Given the description of an element on the screen output the (x, y) to click on. 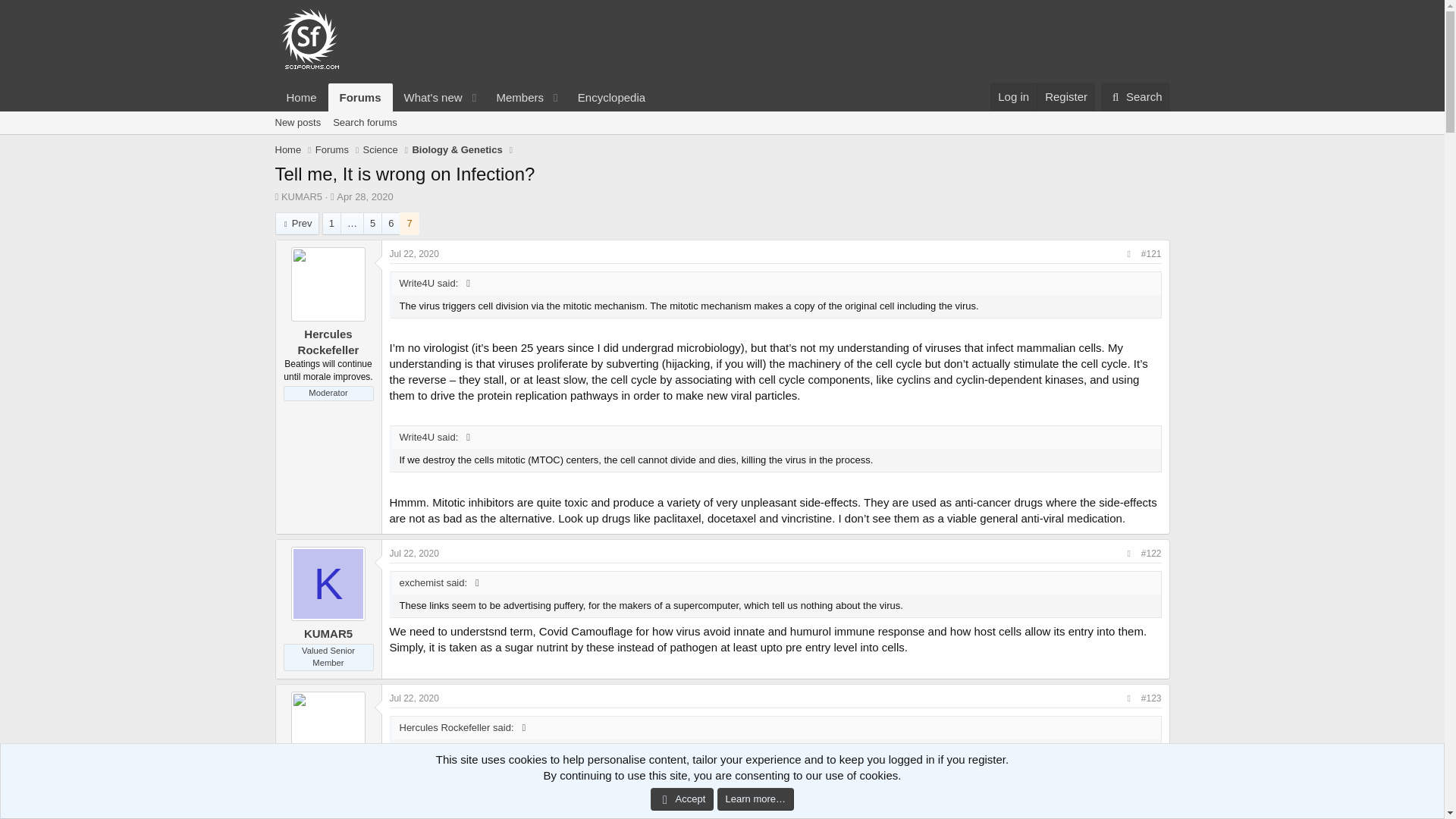
1 (331, 223)
Jul 22, 2020 at 7:49 AM (464, 97)
Start date (414, 253)
Forums (332, 196)
Apr 28, 2020 at 11:25 AM (361, 97)
Jul 22, 2020 at 9:32 AM (720, 122)
Home (364, 196)
Members (414, 697)
What's new (301, 97)
New posts (514, 97)
Jul 22, 2020 at 7:50 AM (428, 97)
Thread starter (296, 122)
